Given the description of an element on the screen output the (x, y) to click on. 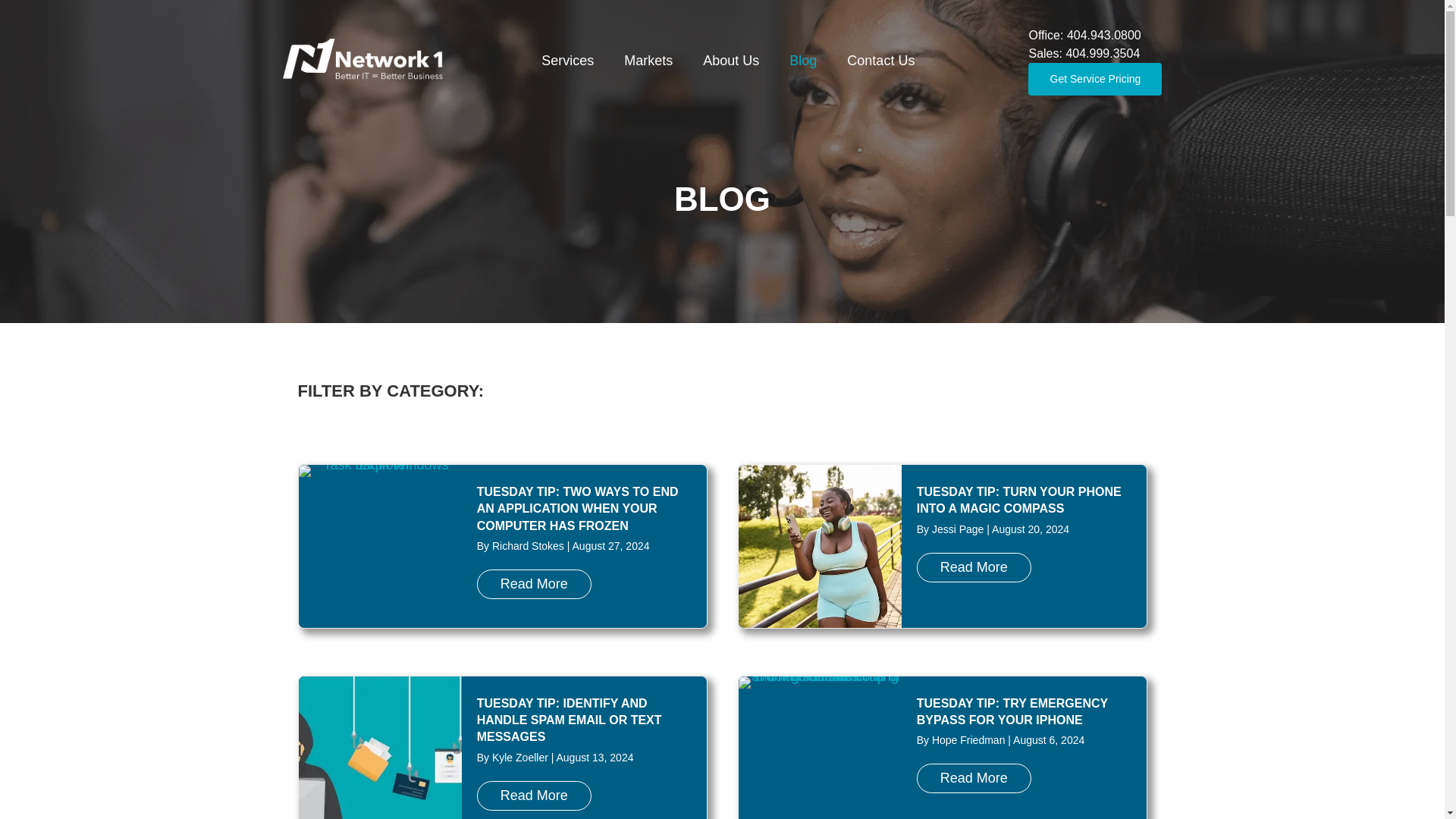
Tuesday Tip: Turn Your Phone into a Magic Compass (1019, 500)
Tuesday Tip 8.20.24 (819, 546)
Services (567, 60)
Tuesday Tip: Try Emergency Bypass for Your iPhone (973, 778)
Markets (647, 60)
Tuesday Tip: Turn Your Phone into a Magic Compass (973, 567)
Tuesday Tip August 27, 2024 1 (379, 470)
Tuesday Tip August 13, 2024 (379, 747)
Tuesday Tip: Try Emergency Bypass for Your iPhone (1012, 711)
